Given the description of an element on the screen output the (x, y) to click on. 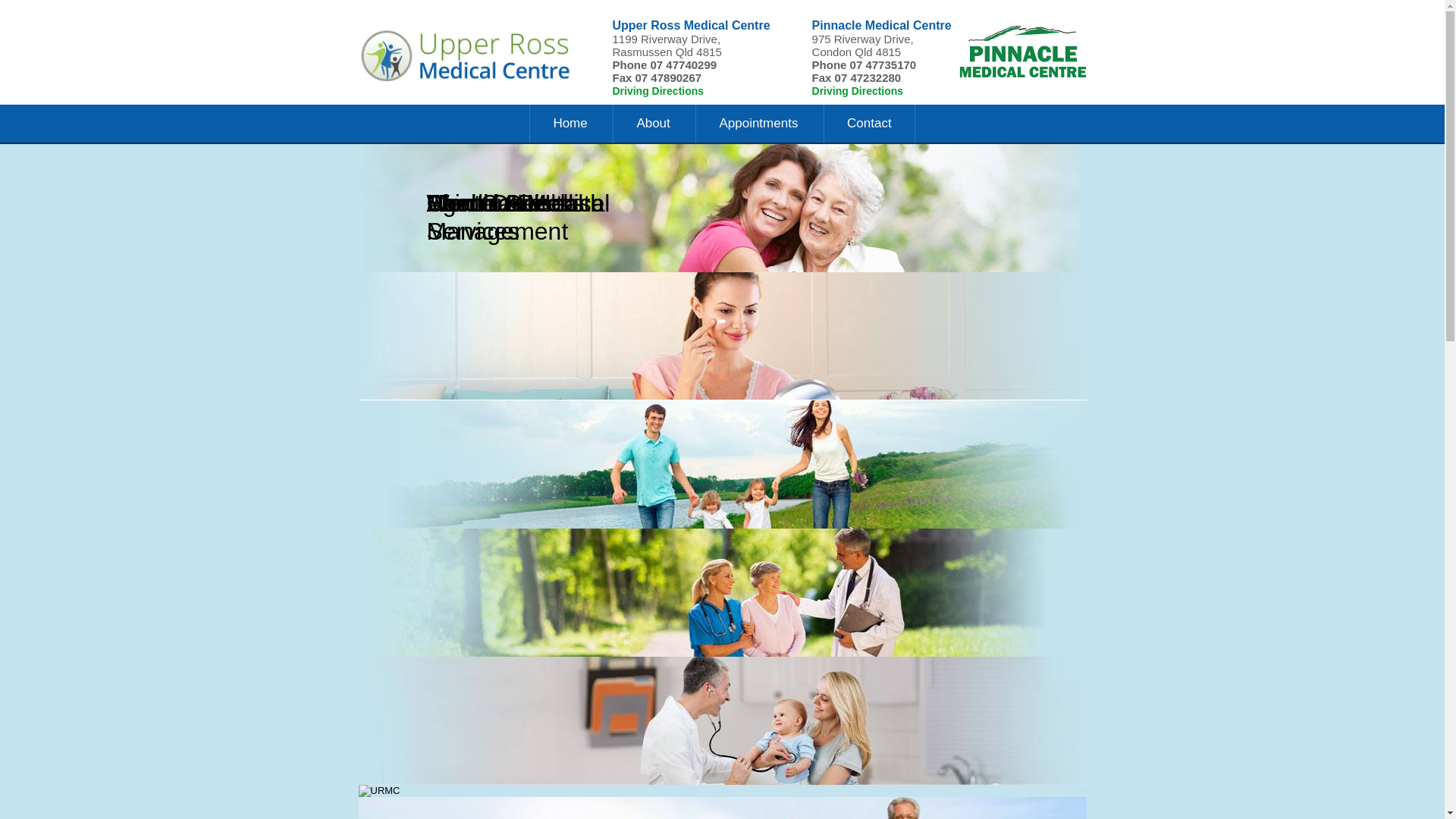
Contact (869, 123)
Appointments (758, 123)
Upper Ross Medical Centre (676, 32)
Driving Directions (858, 91)
About (652, 123)
Pinnacle Medical Centre (866, 32)
Driving Directions (658, 91)
Home (569, 123)
